Given the description of an element on the screen output the (x, y) to click on. 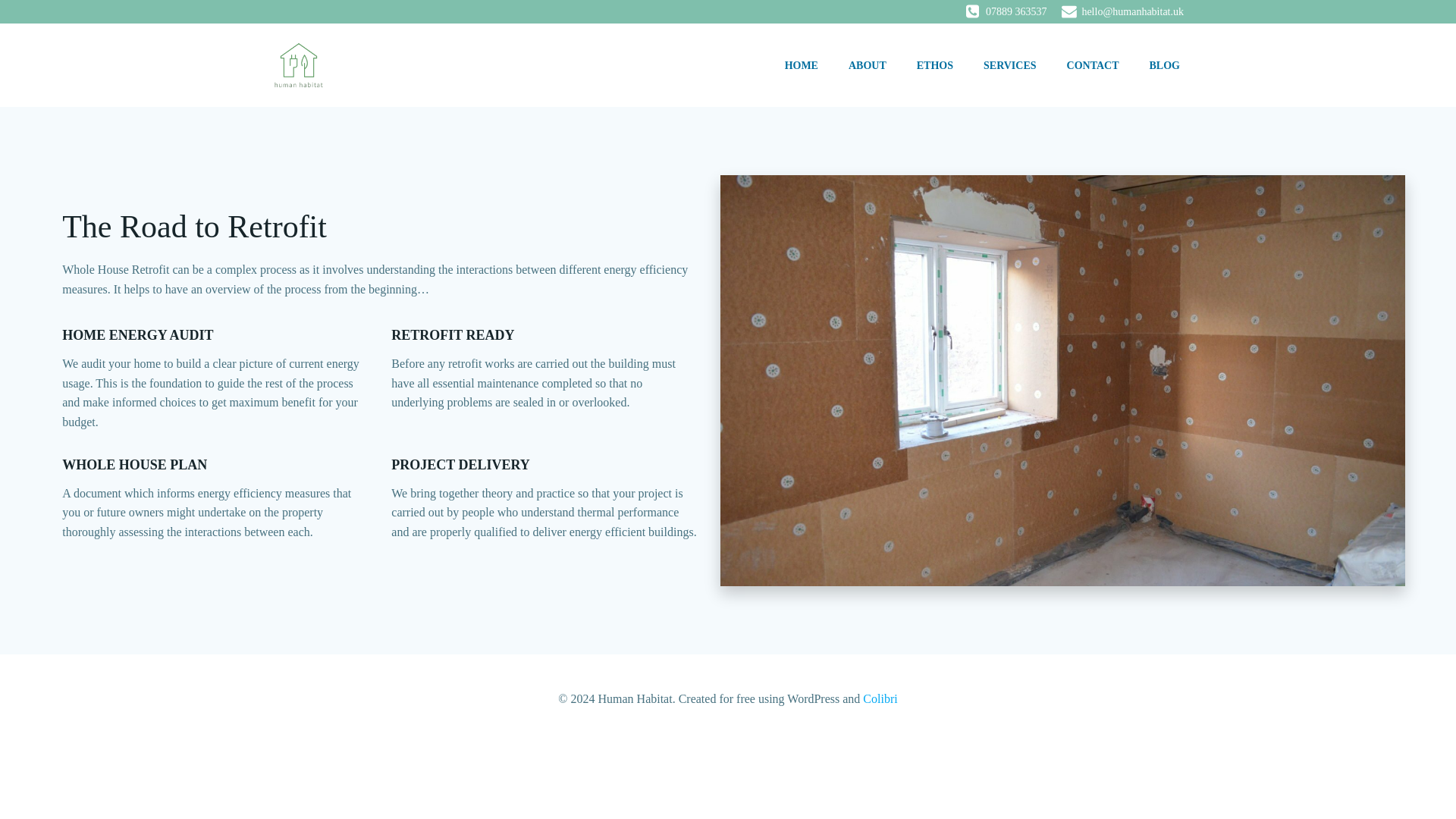
ABOUT (867, 65)
HOME (801, 65)
07889 363537 (1006, 11)
ETHOS (935, 65)
Colibri (879, 698)
SERVICES (1010, 65)
BLOG (1164, 65)
CONTACT (1093, 65)
